Given the description of an element on the screen output the (x, y) to click on. 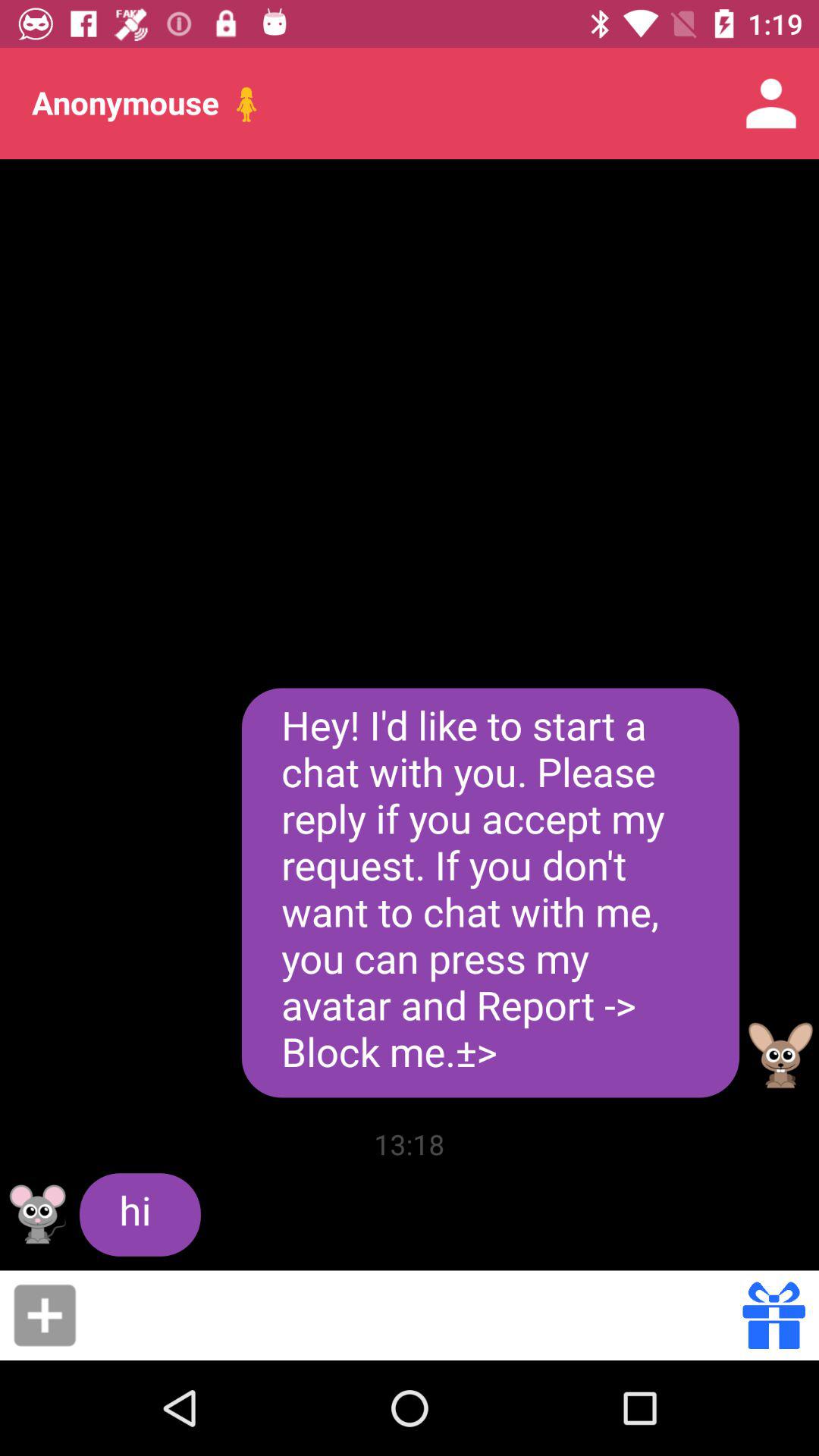
launch item above hey i d icon (771, 103)
